Given the description of an element on the screen output the (x, y) to click on. 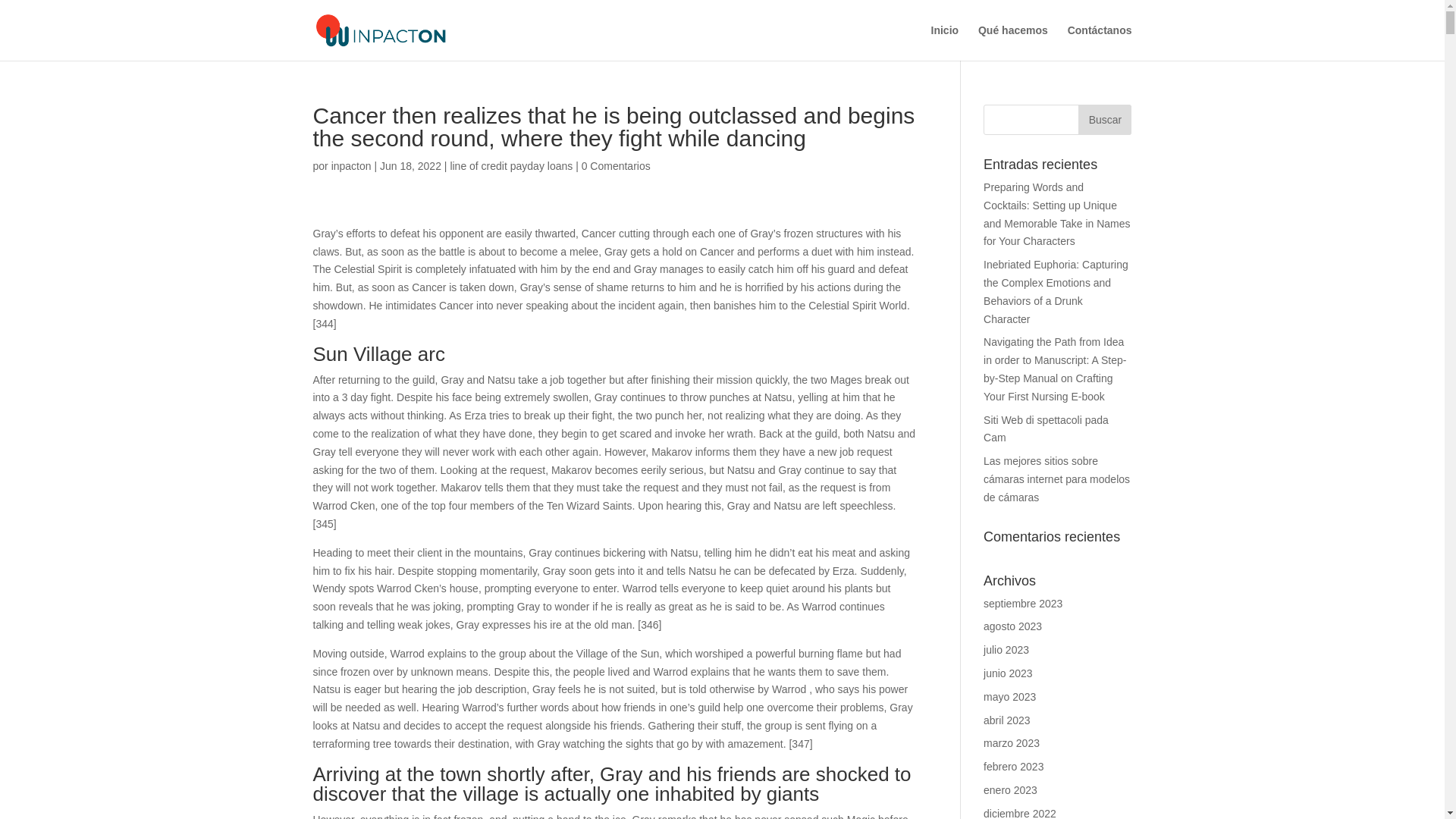
Buscar (1104, 119)
enero 2023 (1010, 789)
Buscar (1104, 119)
inpacton (351, 165)
0 Comentarios (615, 165)
abril 2023 (1007, 720)
mayo 2023 (1009, 696)
Mensajes de inpacton (351, 165)
febrero 2023 (1013, 766)
julio 2023 (1006, 649)
